Given the description of an element on the screen output the (x, y) to click on. 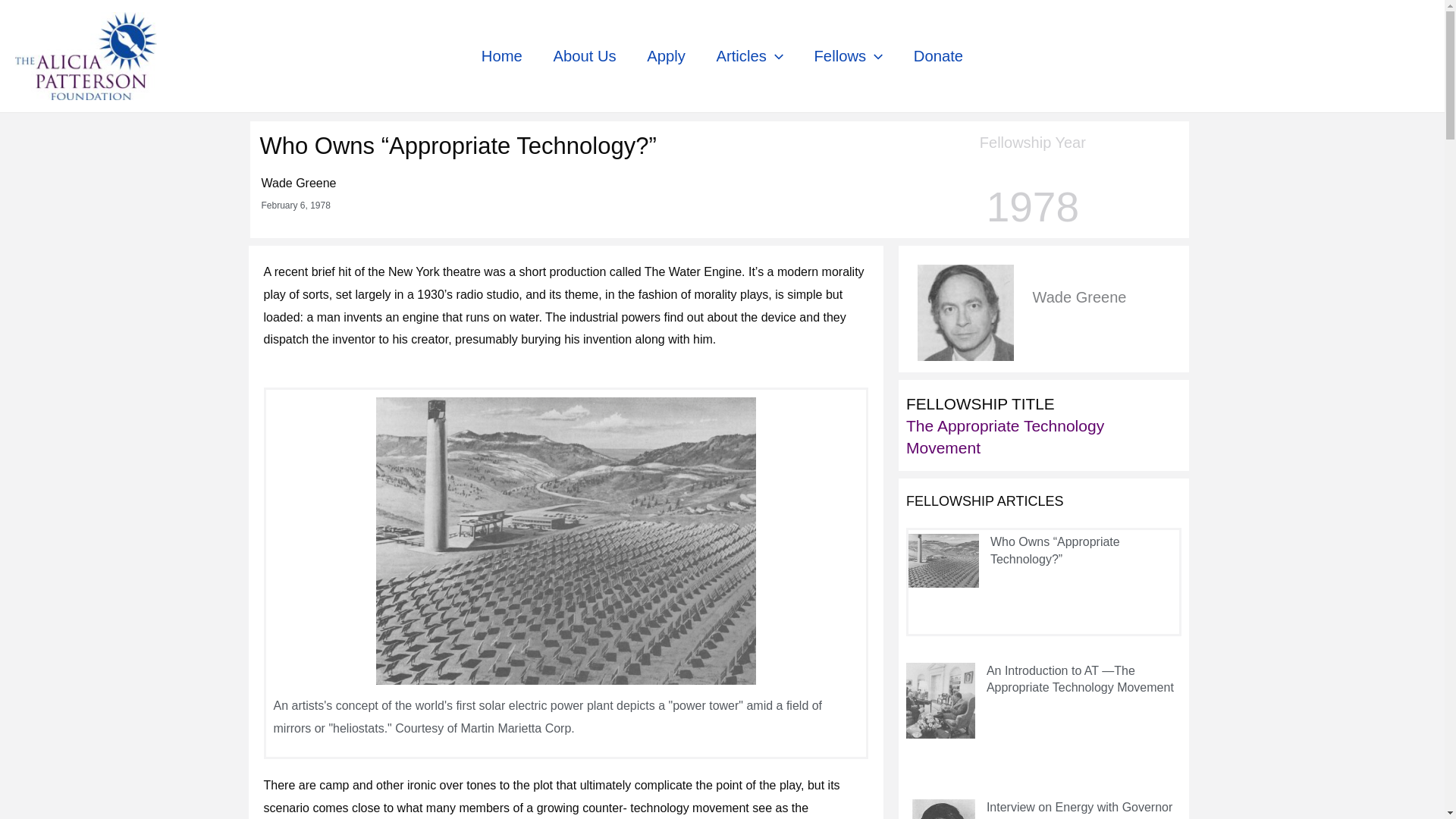
Articles (748, 55)
About Us (584, 55)
Fellows (847, 55)
Donate (938, 55)
Home (501, 55)
Apply (665, 55)
